Given the description of an element on the screen output the (x, y) to click on. 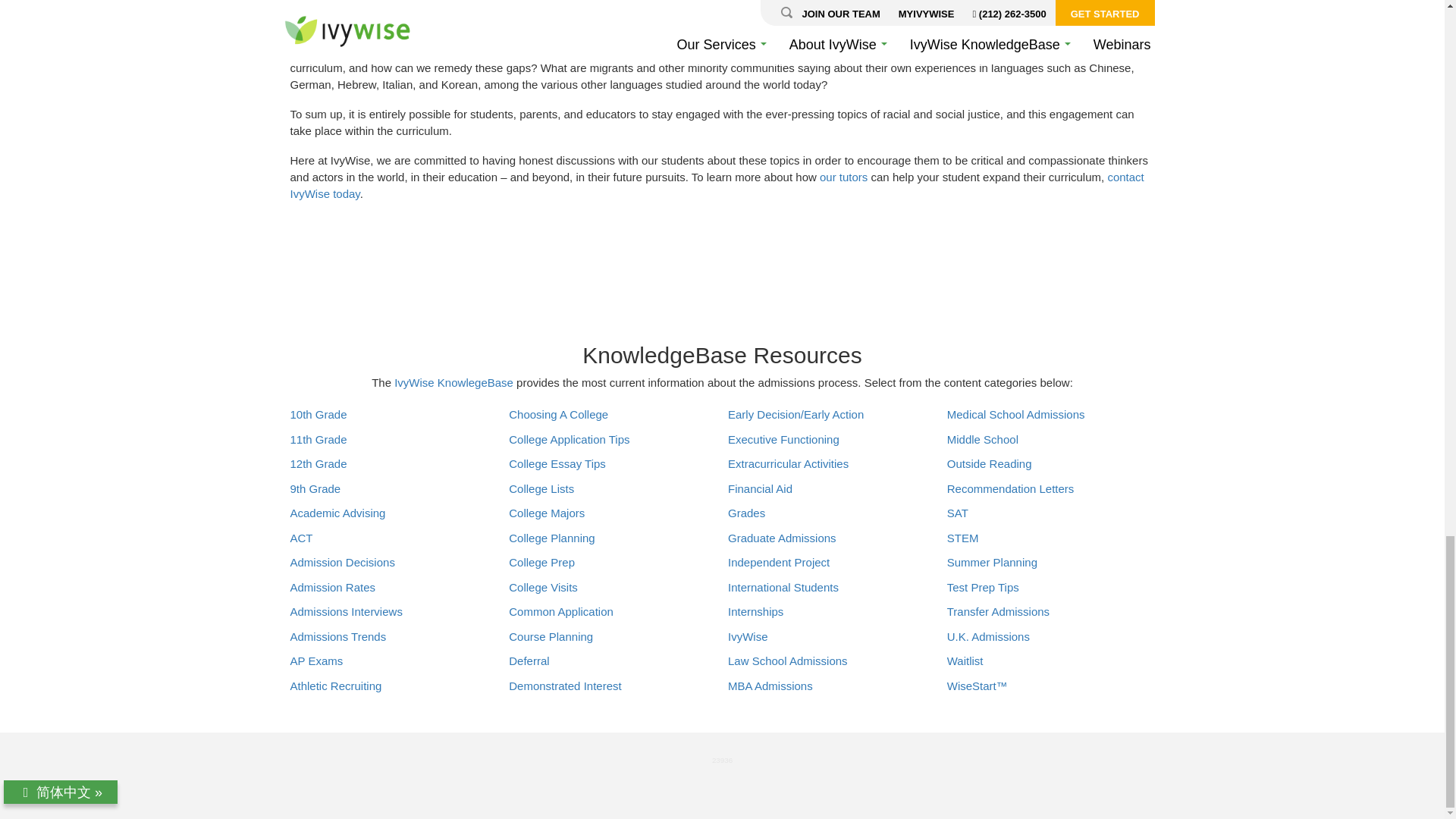
Admission Rates (332, 587)
12th Grade (317, 463)
AP Exams (315, 660)
10th Grade (317, 414)
College Essay Tips (556, 463)
Academic Advising (337, 513)
9th Grade (314, 488)
Admissions Trends (337, 636)
Admission Decisions (341, 562)
Choosing a College (558, 414)
11th Grade (317, 439)
College Application Tips (568, 439)
ACT (301, 538)
Athletic Recruiting (335, 686)
Admissions Interviews (345, 611)
